Given the description of an element on the screen output the (x, y) to click on. 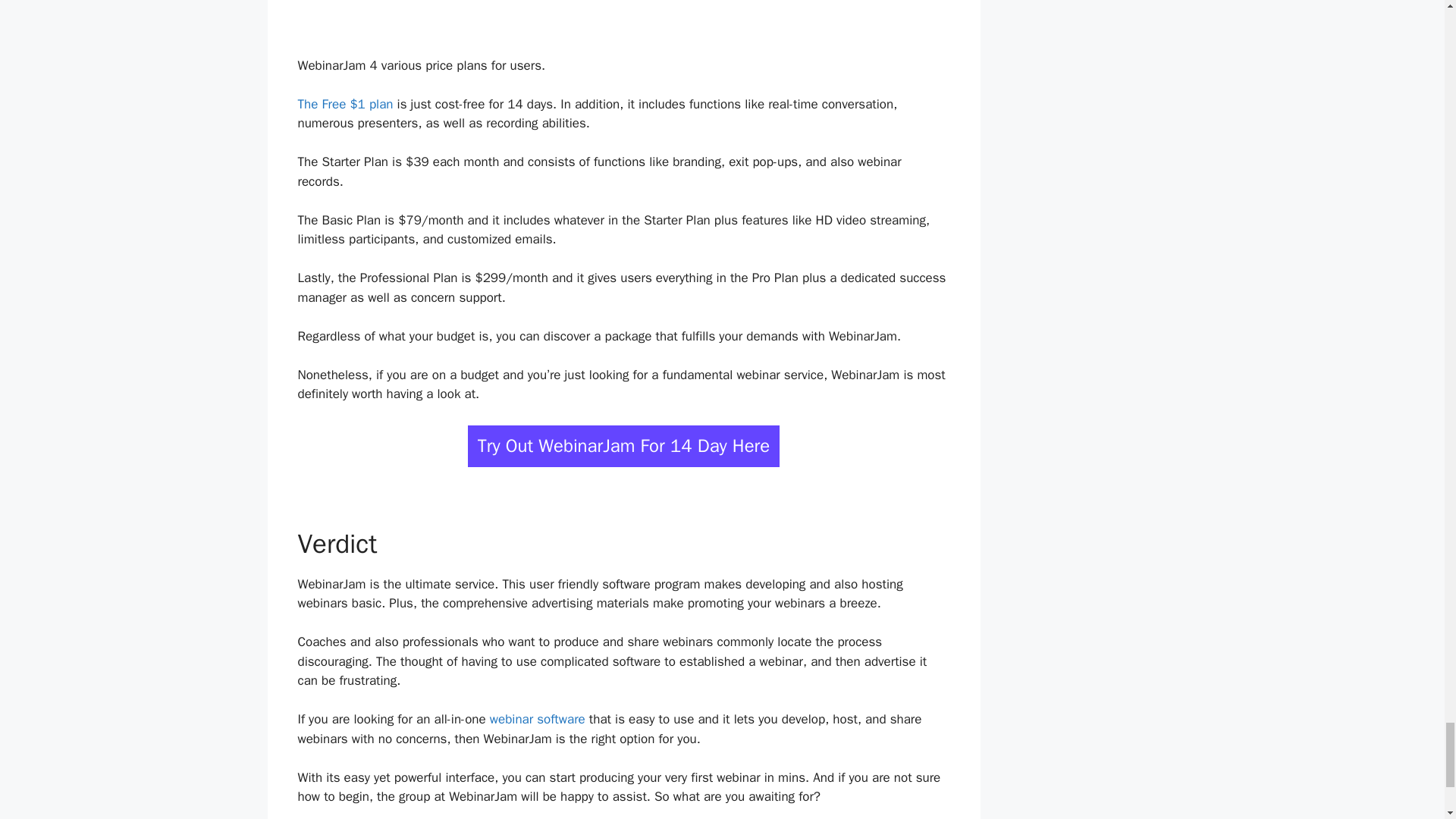
Try Out WebinarJam For 14 Day Here (622, 445)
webinar software (537, 719)
